Given the description of an element on the screen output the (x, y) to click on. 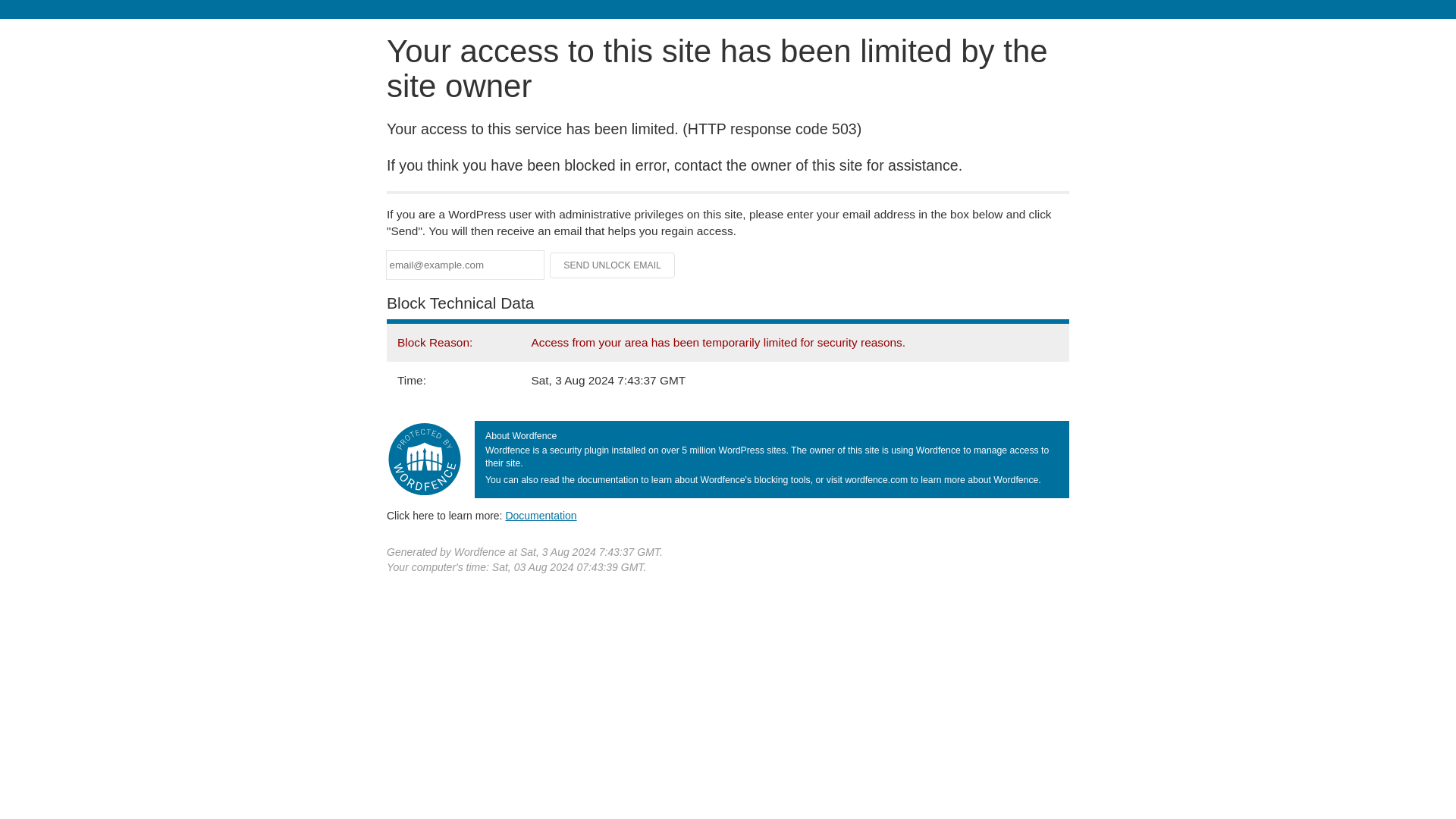
Send Unlock Email (612, 265)
Send Unlock Email (612, 265)
Documentation (540, 515)
